Given the description of an element on the screen output the (x, y) to click on. 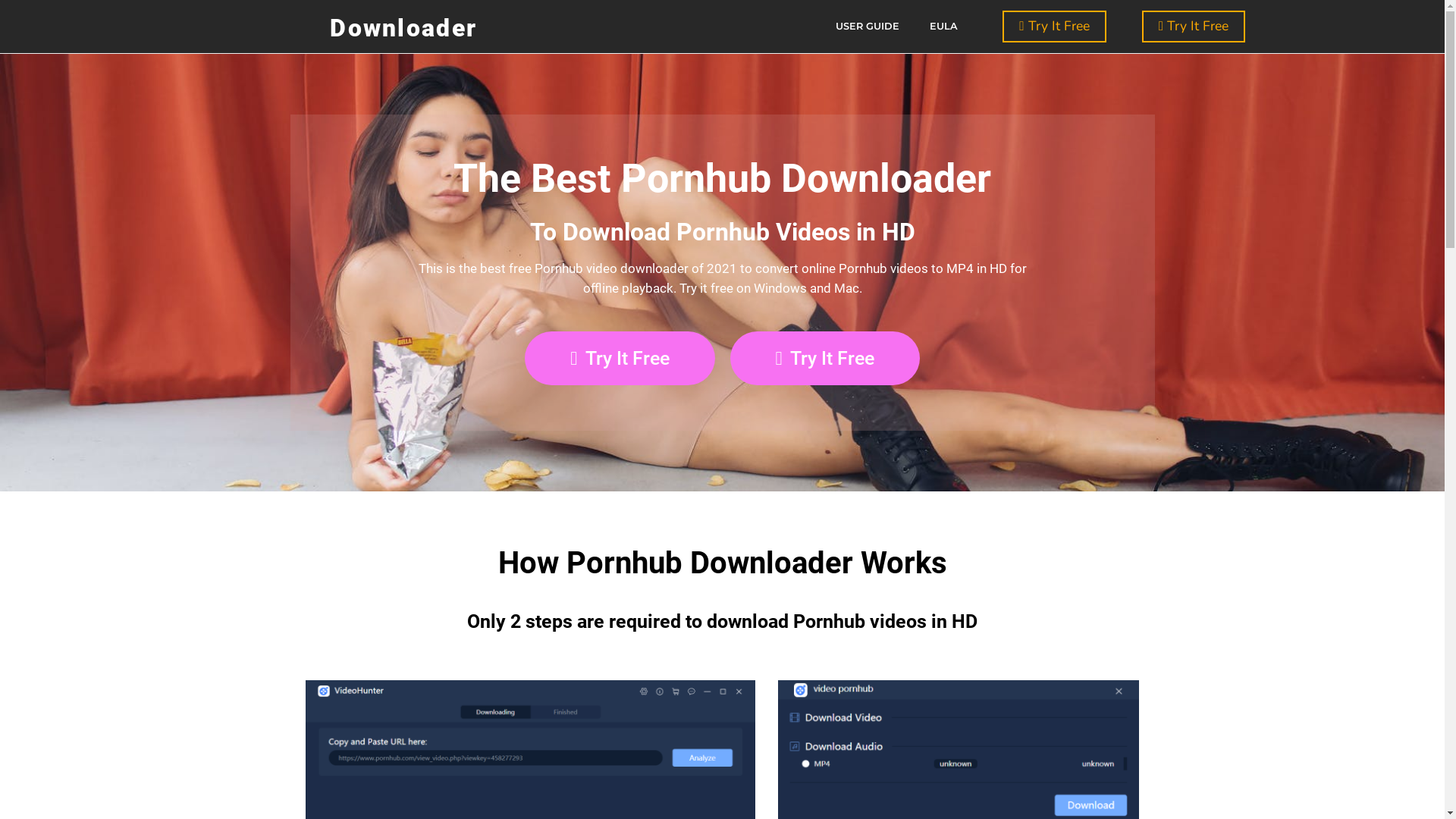
Try It Free Element type: text (619, 358)
Try It Free Element type: text (1193, 26)
USER GUIDE Element type: text (867, 26)
Try It Free Element type: text (1053, 26)
EULA Element type: text (943, 26)
Try It Free Element type: text (824, 358)
